Given the description of an element on the screen output the (x, y) to click on. 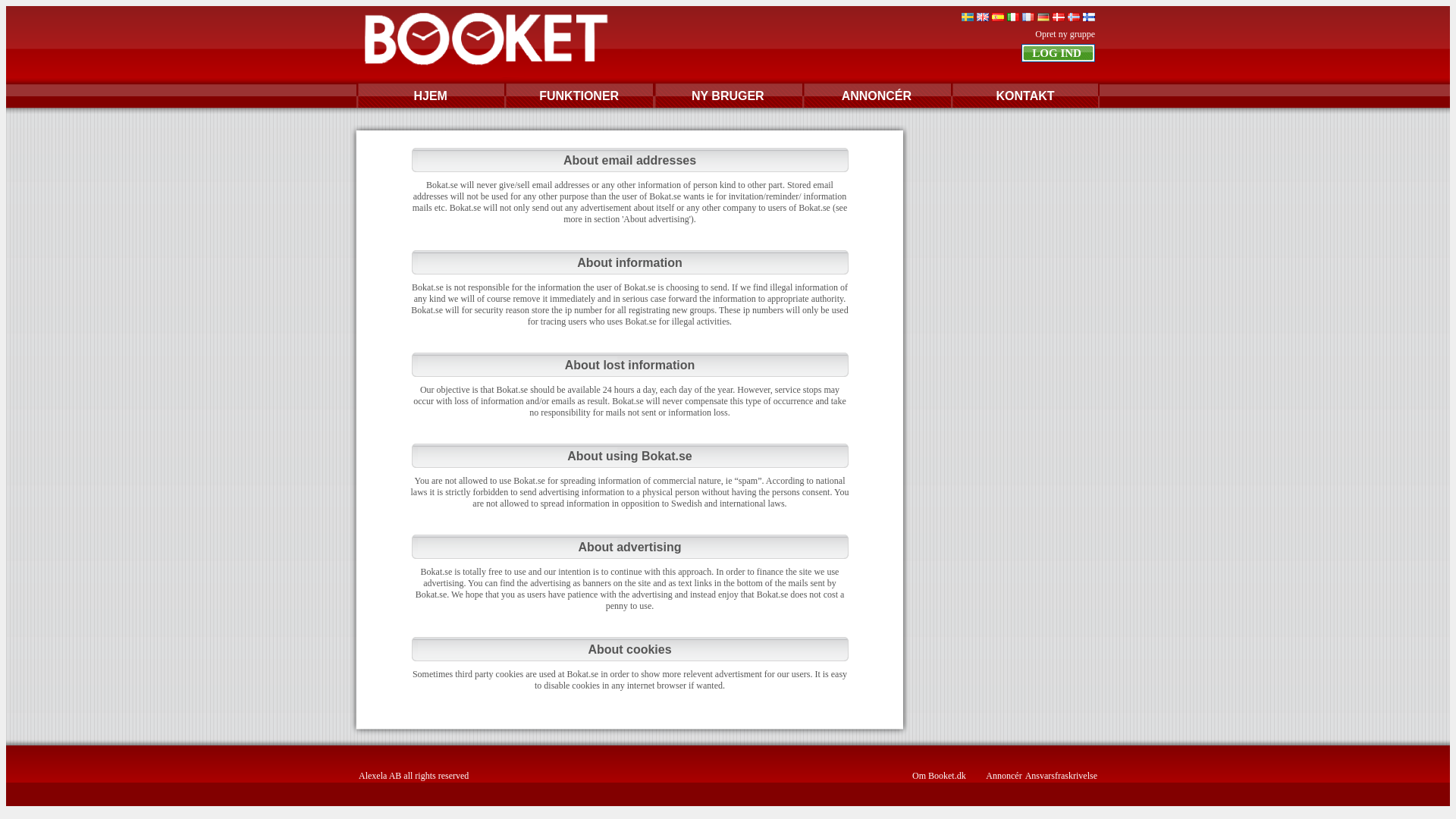
KONTAKT (1024, 95)
FUNKTIONER (578, 95)
Ansvarsfraskrivelse (1061, 775)
LOG IND  (1058, 53)
HJEM (429, 95)
LOG IND  (1058, 53)
Opret ny gruppe (1064, 33)
Om Booket.dk (939, 775)
NY BRUGER (727, 95)
